Given the description of an element on the screen output the (x, y) to click on. 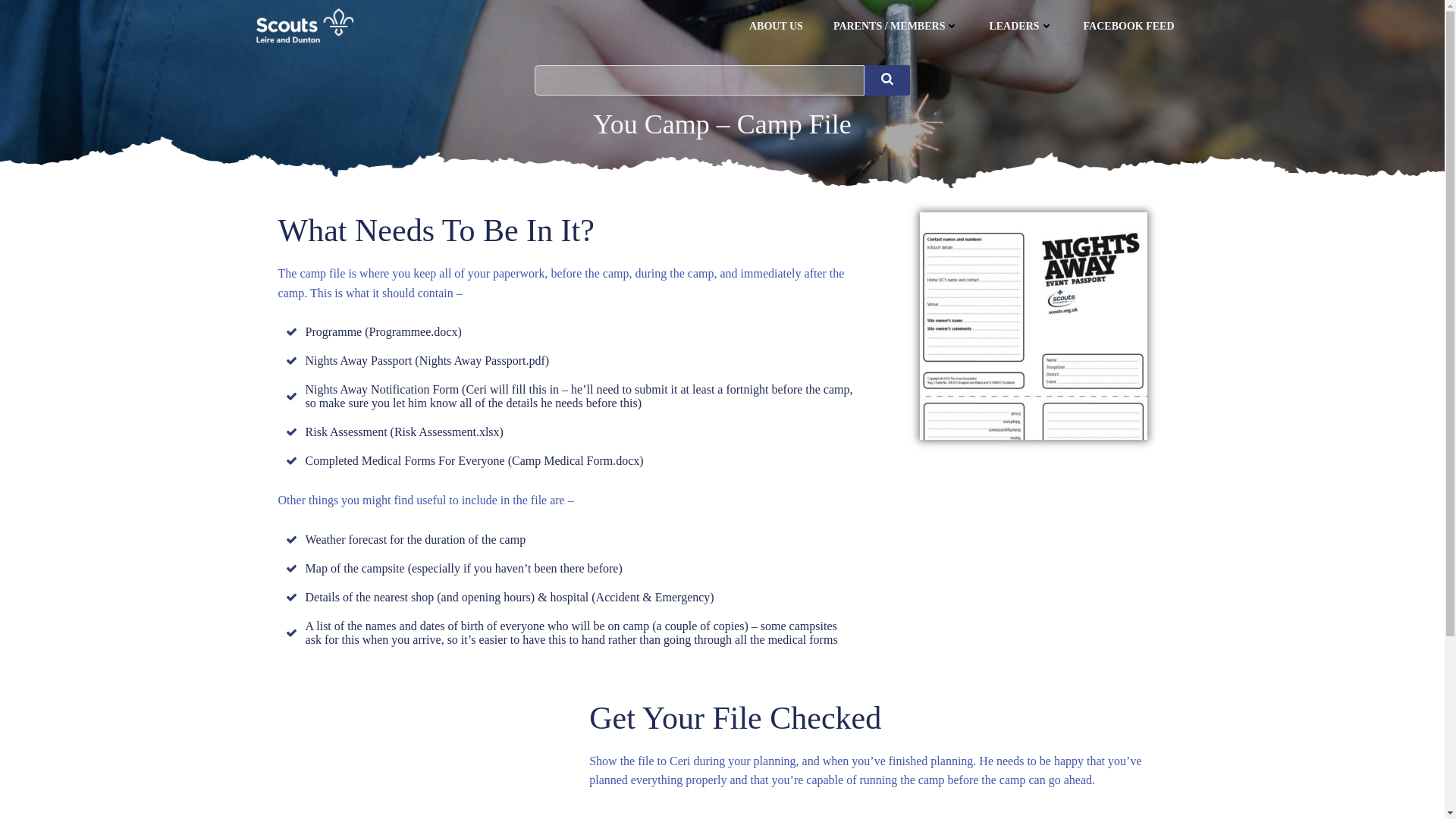
FACEBOOK FEED (1128, 26)
ABOUT US (776, 26)
LEADERS (1020, 26)
Colibri (908, 773)
